Given the description of an element on the screen output the (x, y) to click on. 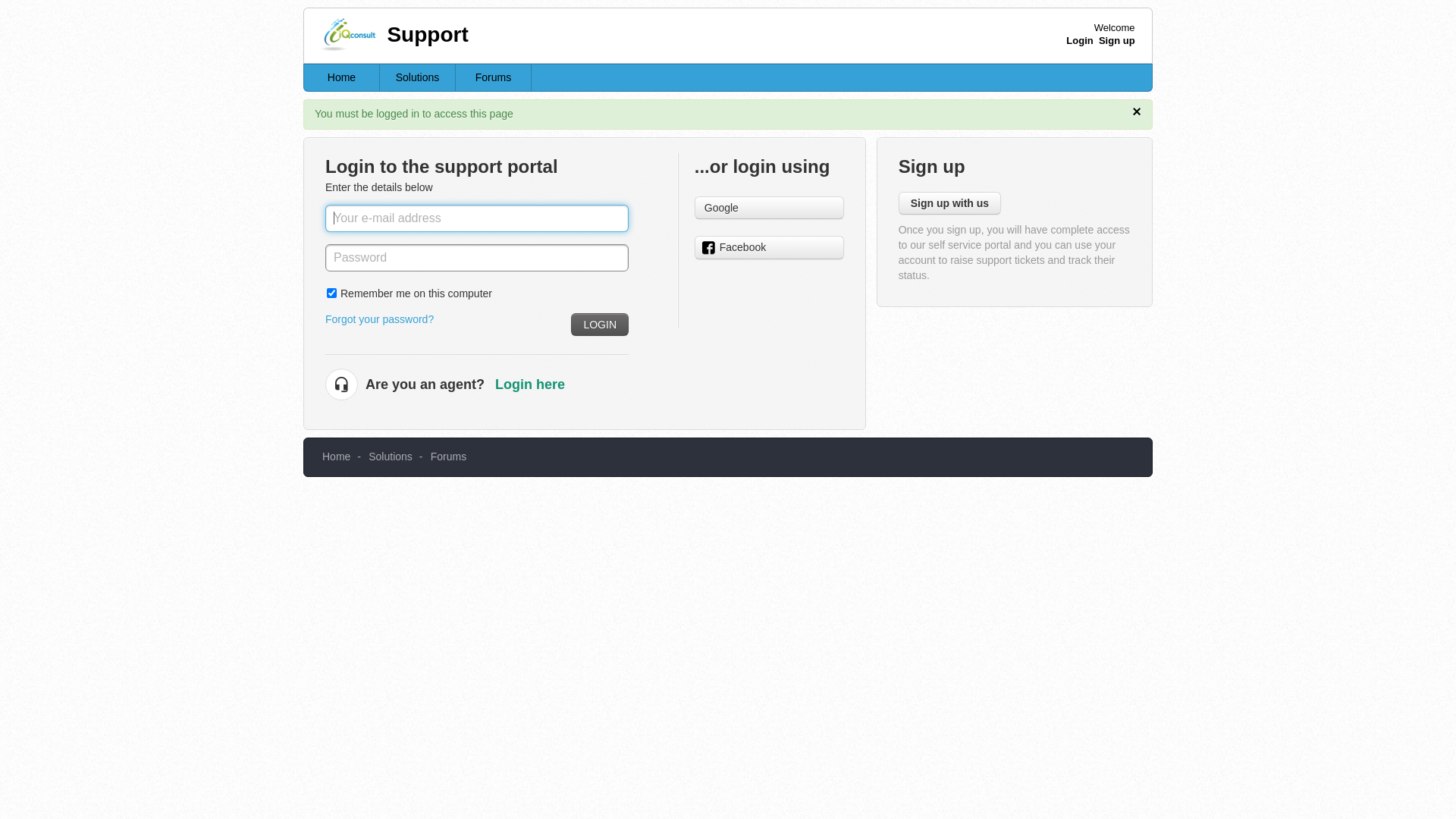
Login here Element type: text (529, 384)
Home Element type: text (336, 456)
Solutions Element type: text (417, 77)
Sign up with us Element type: text (949, 202)
Google Element type: text (769, 207)
Forums Element type: text (493, 77)
Sign up Element type: text (1116, 40)
Forgot your password? Element type: text (379, 319)
Login Element type: text (1079, 40)
Home Element type: text (341, 77)
LOGIN Element type: text (599, 324)
Forums Element type: text (448, 456)
Solutions Element type: text (390, 456)
Facebook Element type: text (769, 247)
